Given the description of an element on the screen output the (x, y) to click on. 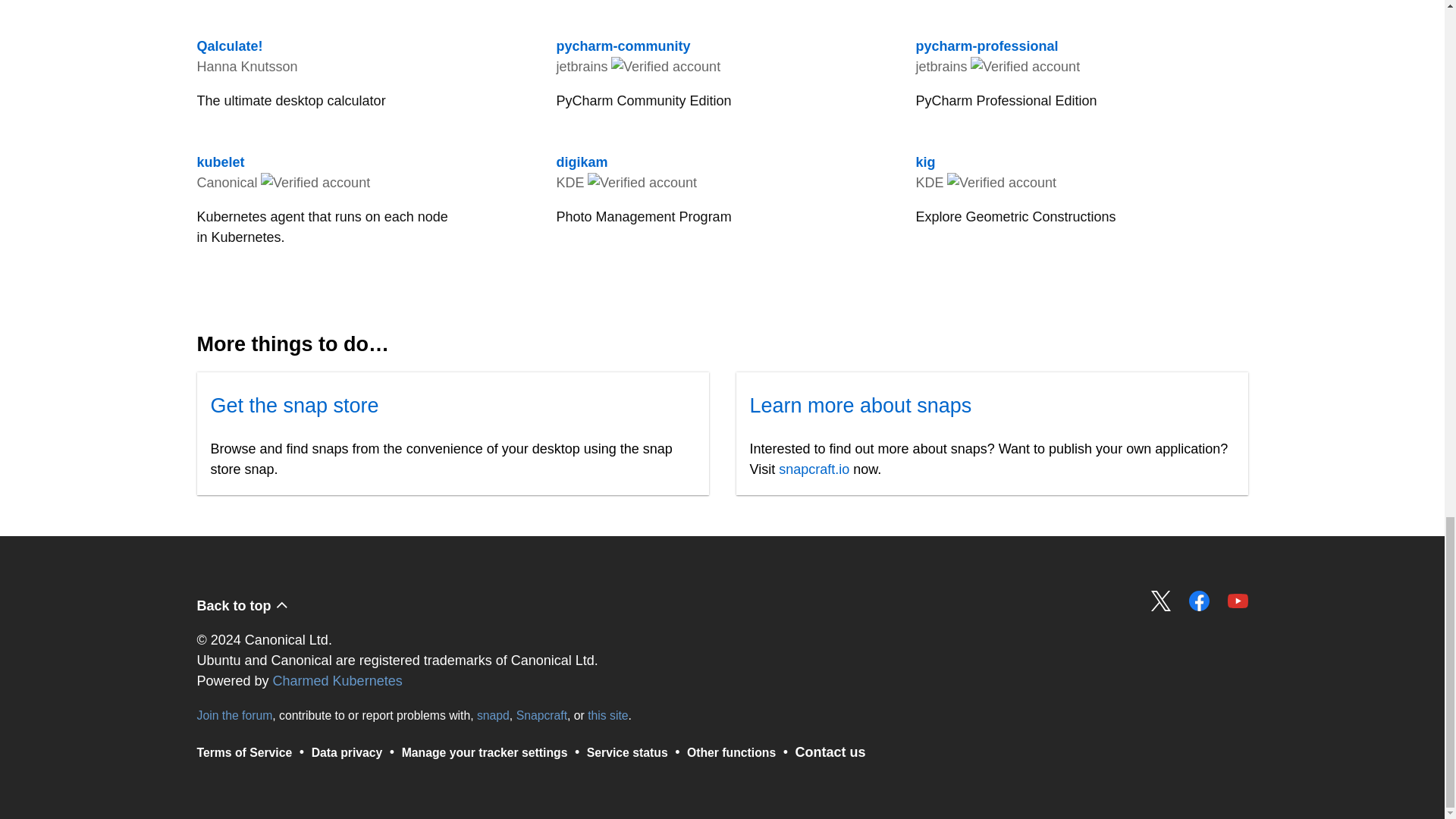
Share on Twitter (1081, 5)
Service status (1161, 600)
snapcraft.io (627, 752)
this site (813, 468)
Get the snap store (607, 715)
Data privacy (294, 404)
Join the forum (346, 752)
Charmed Kubernetes (234, 715)
Manage your tracker settings (338, 680)
